Given the description of an element on the screen output the (x, y) to click on. 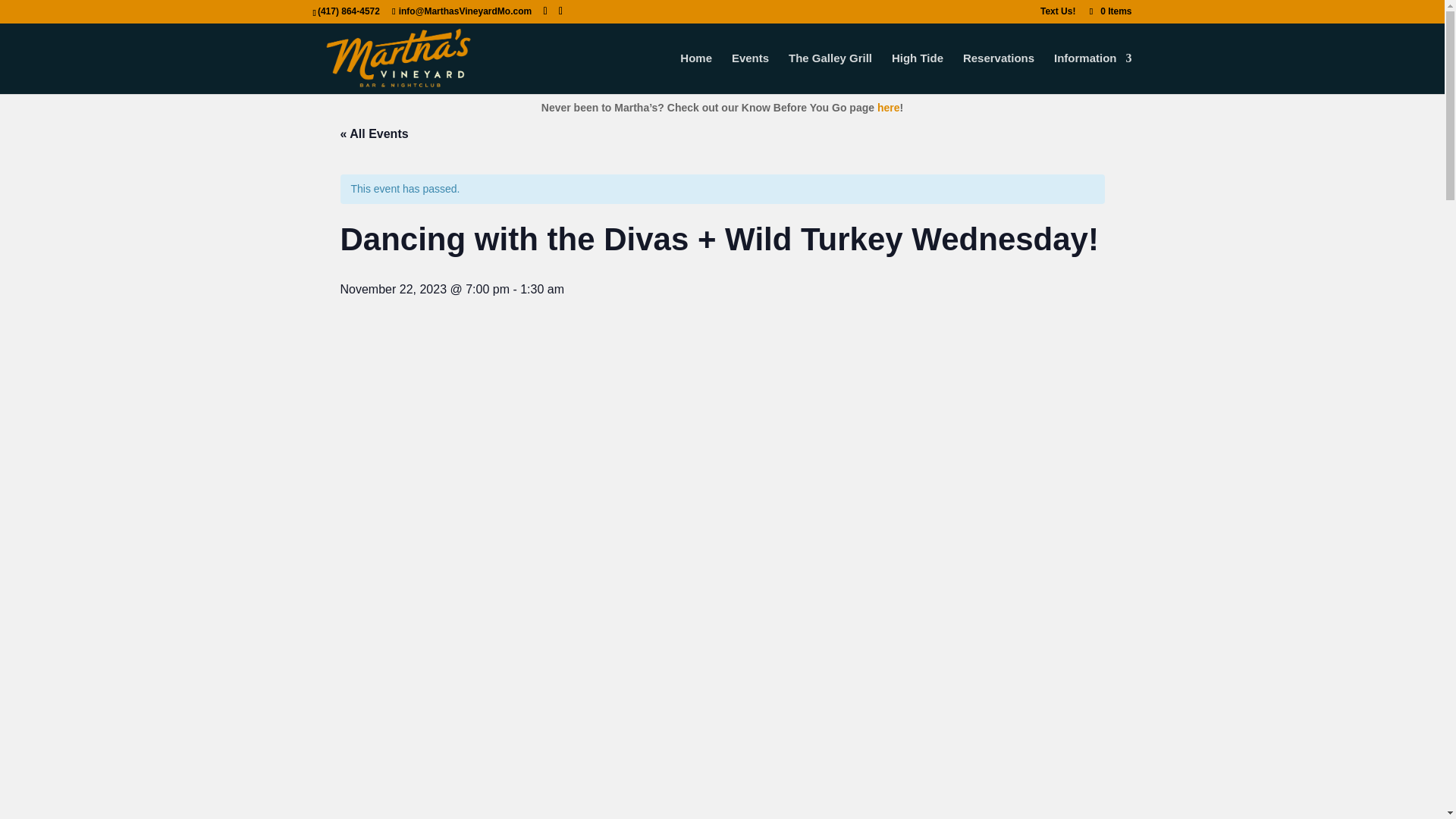
0 Items (1108, 10)
Information (1093, 73)
High Tide (917, 73)
Text Us! (1058, 14)
Events (750, 73)
here (888, 107)
The Galley Grill (830, 73)
Reservations (997, 73)
